Given the description of an element on the screen output the (x, y) to click on. 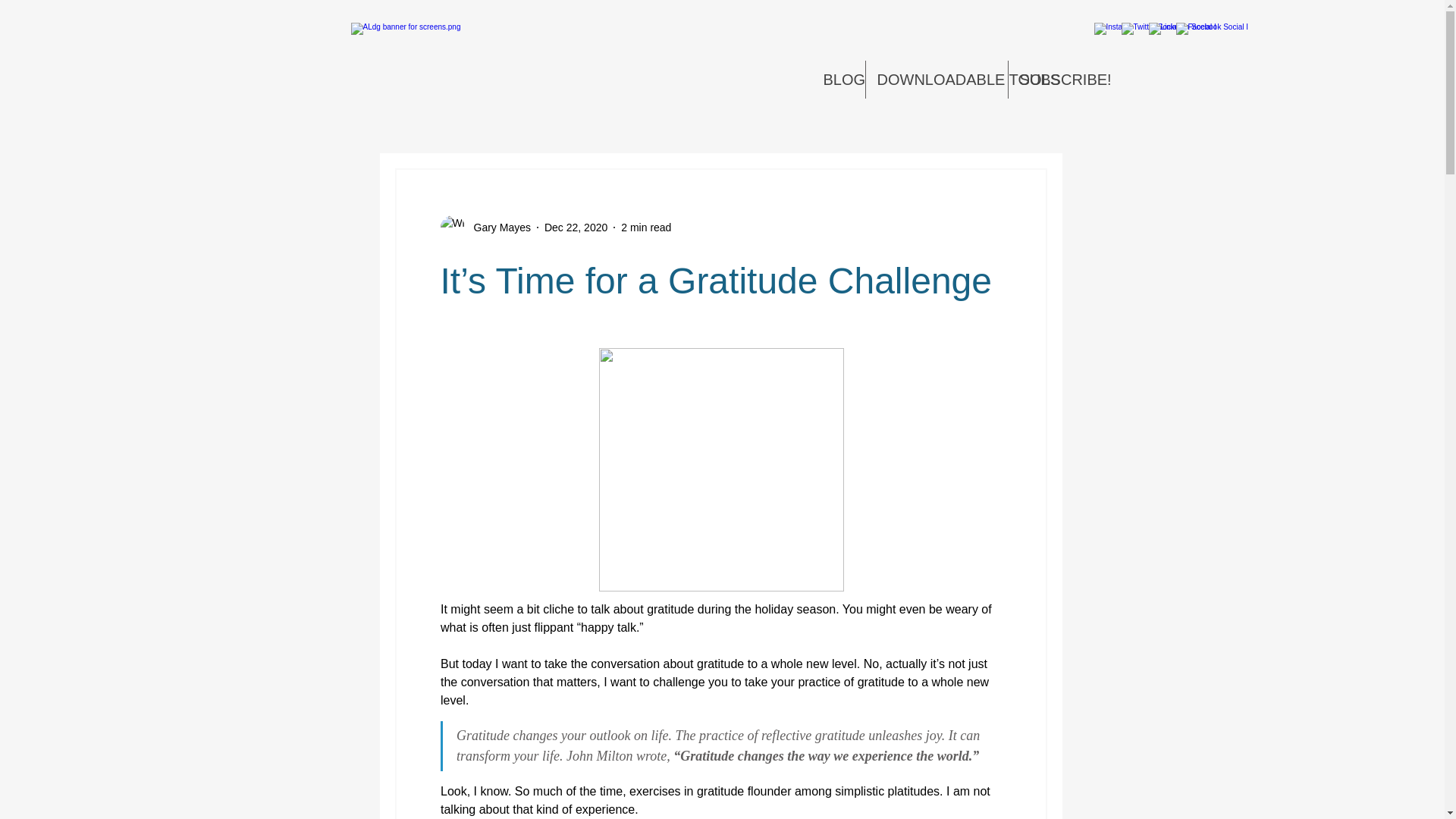
BLOG (837, 79)
2 min read (646, 227)
Gary Mayes (496, 227)
Gary Mayes (484, 227)
Dec 22, 2020 (575, 227)
SUBSCRIBE! (1051, 79)
DOWNLOADABLE TOOLS (936, 79)
